Given the description of an element on the screen output the (x, y) to click on. 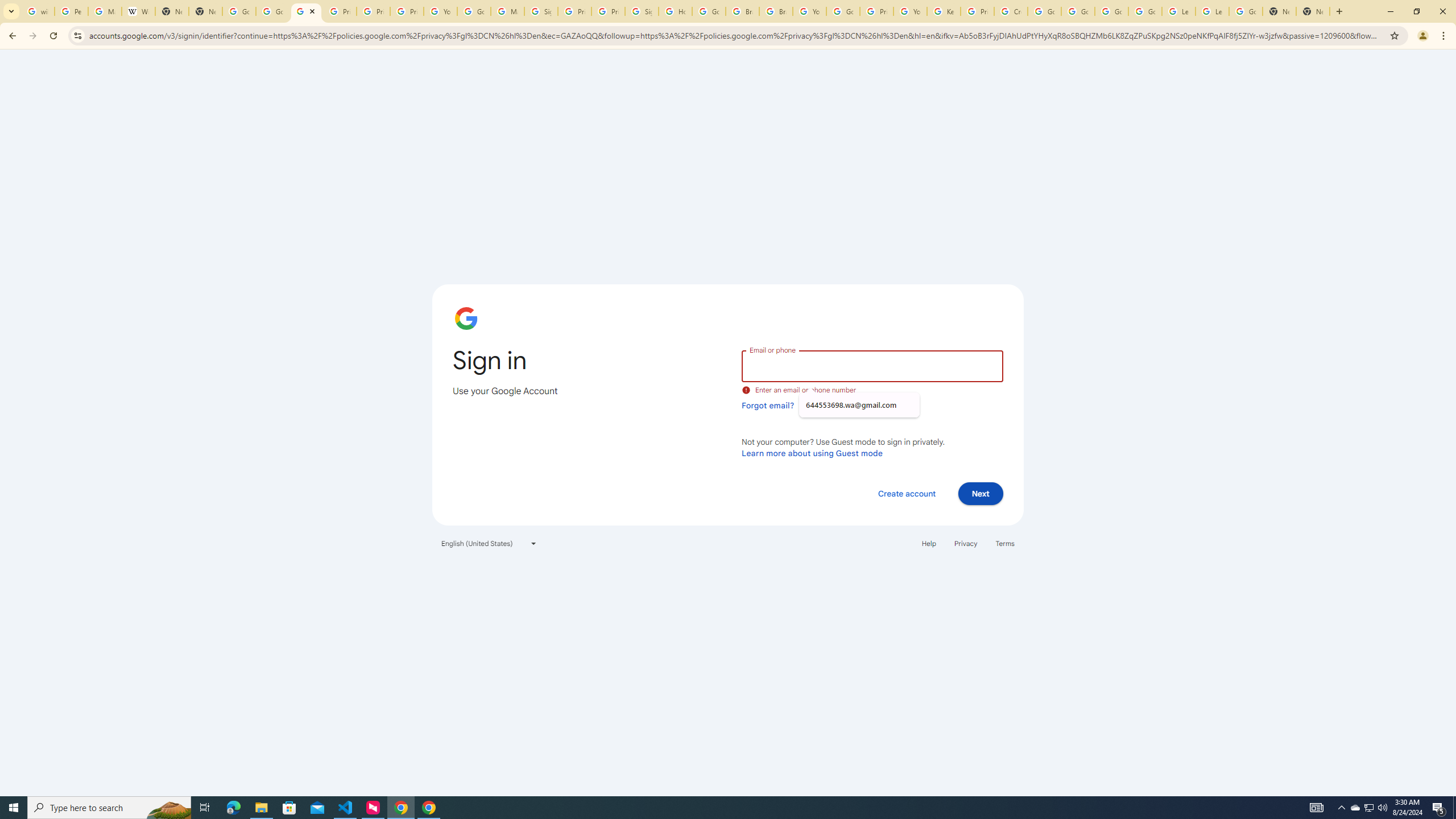
Manage your Location History - Google Search Help (104, 11)
YouTube (909, 11)
Learn more about using Guest mode (812, 452)
Google Account Help (842, 11)
Google Account Help (1111, 11)
Email or phone (871, 365)
Google Account Help (1077, 11)
